Given the description of an element on the screen output the (x, y) to click on. 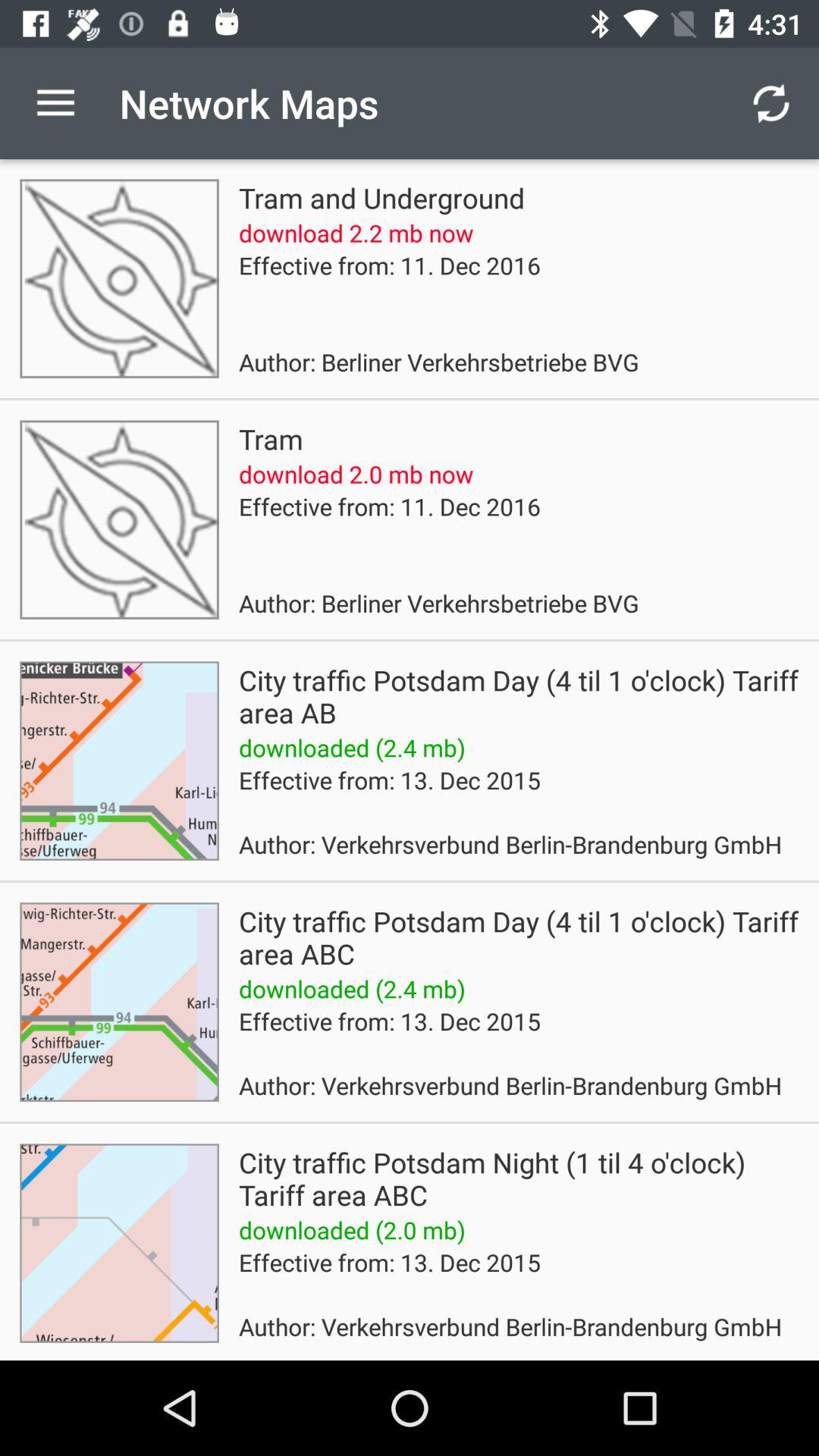
flip to tram and underground item (381, 197)
